Given the description of an element on the screen output the (x, y) to click on. 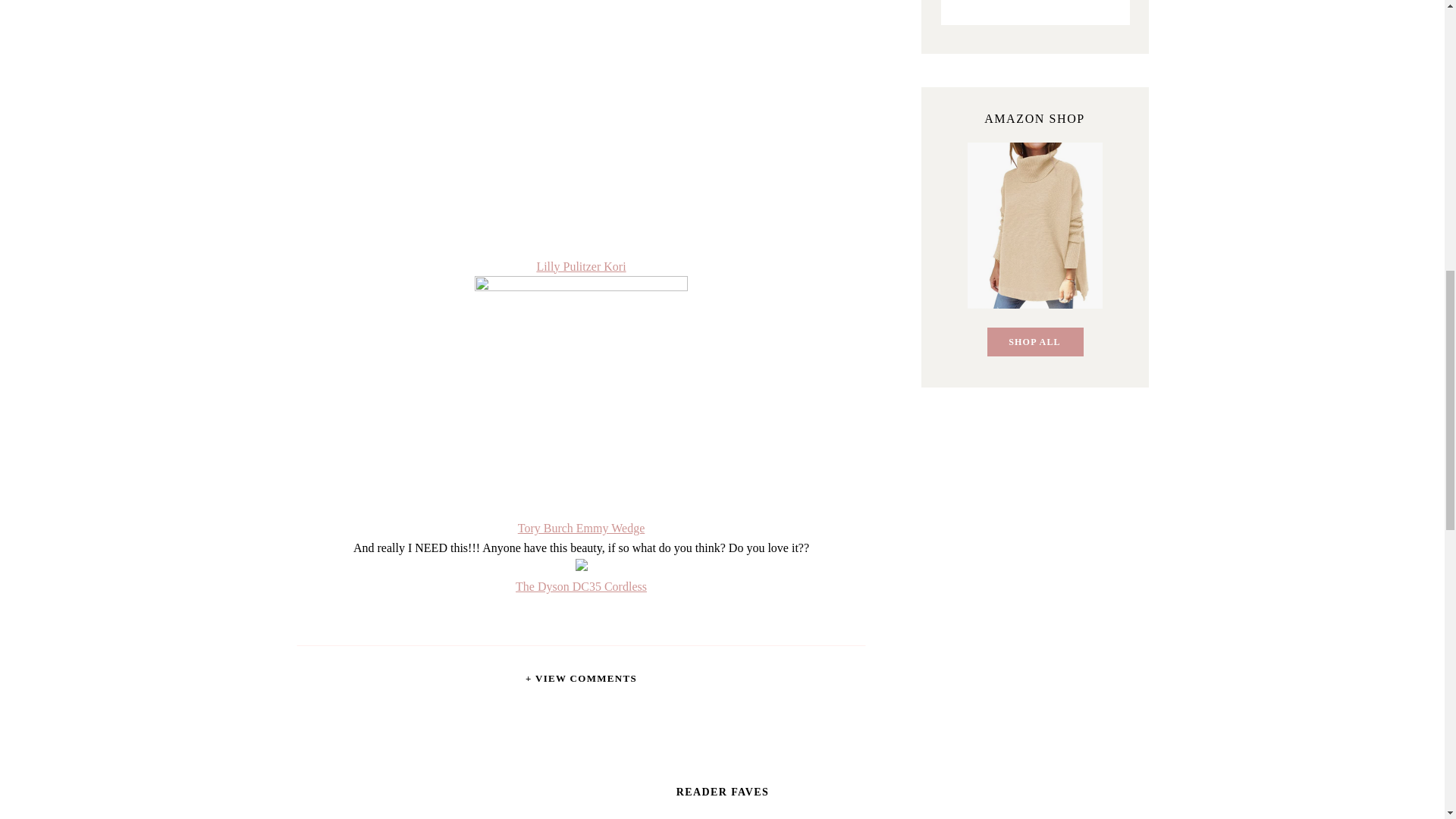
SHOP ALL (1034, 341)
Tory Burch Emmy Wedge (581, 527)
Lilly Pulitzer Kori (580, 266)
